Given the description of an element on the screen output the (x, y) to click on. 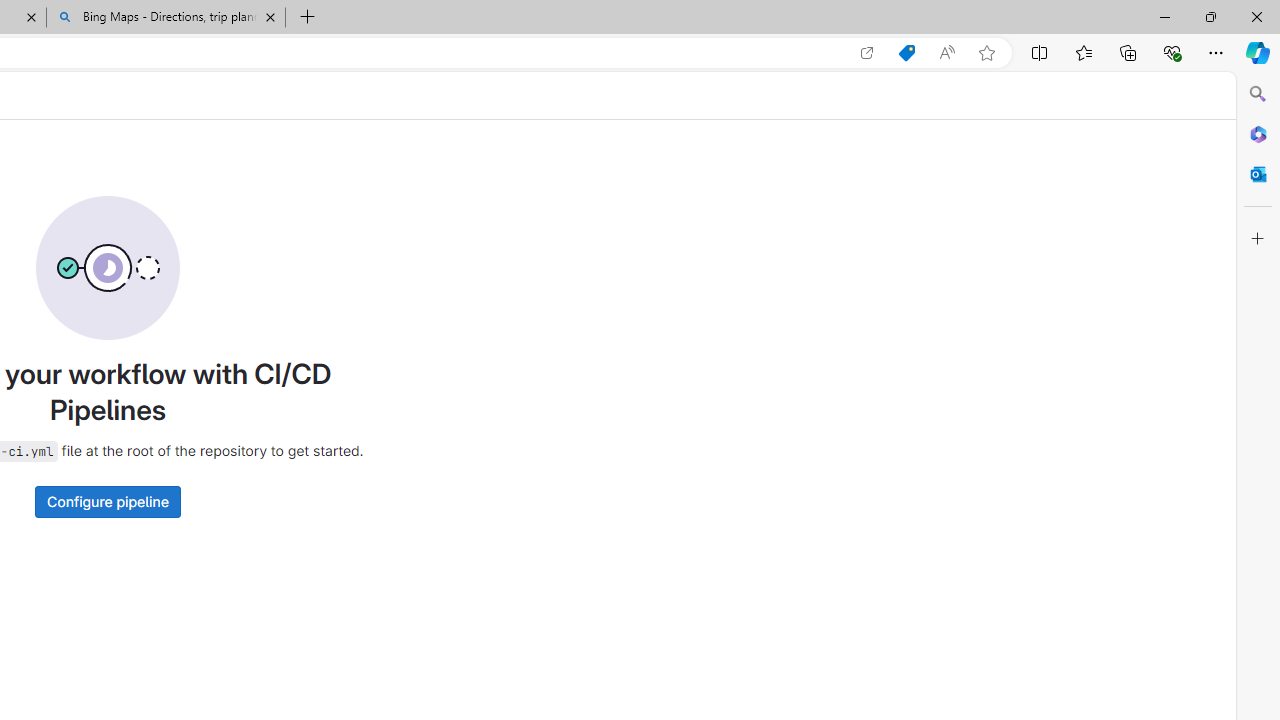
Configure pipeline (107, 501)
